Given the description of an element on the screen output the (x, y) to click on. 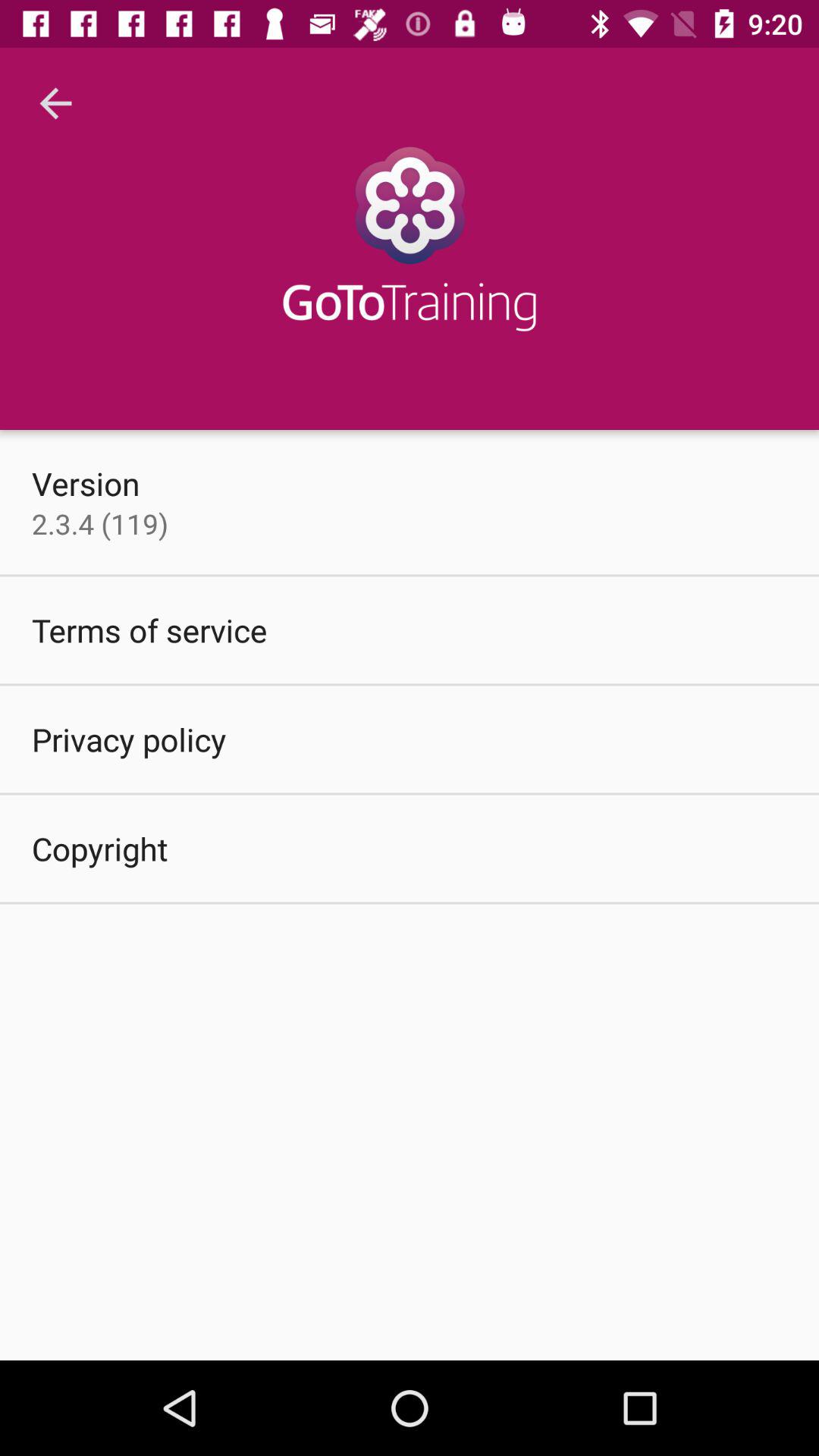
turn on the item below the terms of service (128, 738)
